Given the description of an element on the screen output the (x, y) to click on. 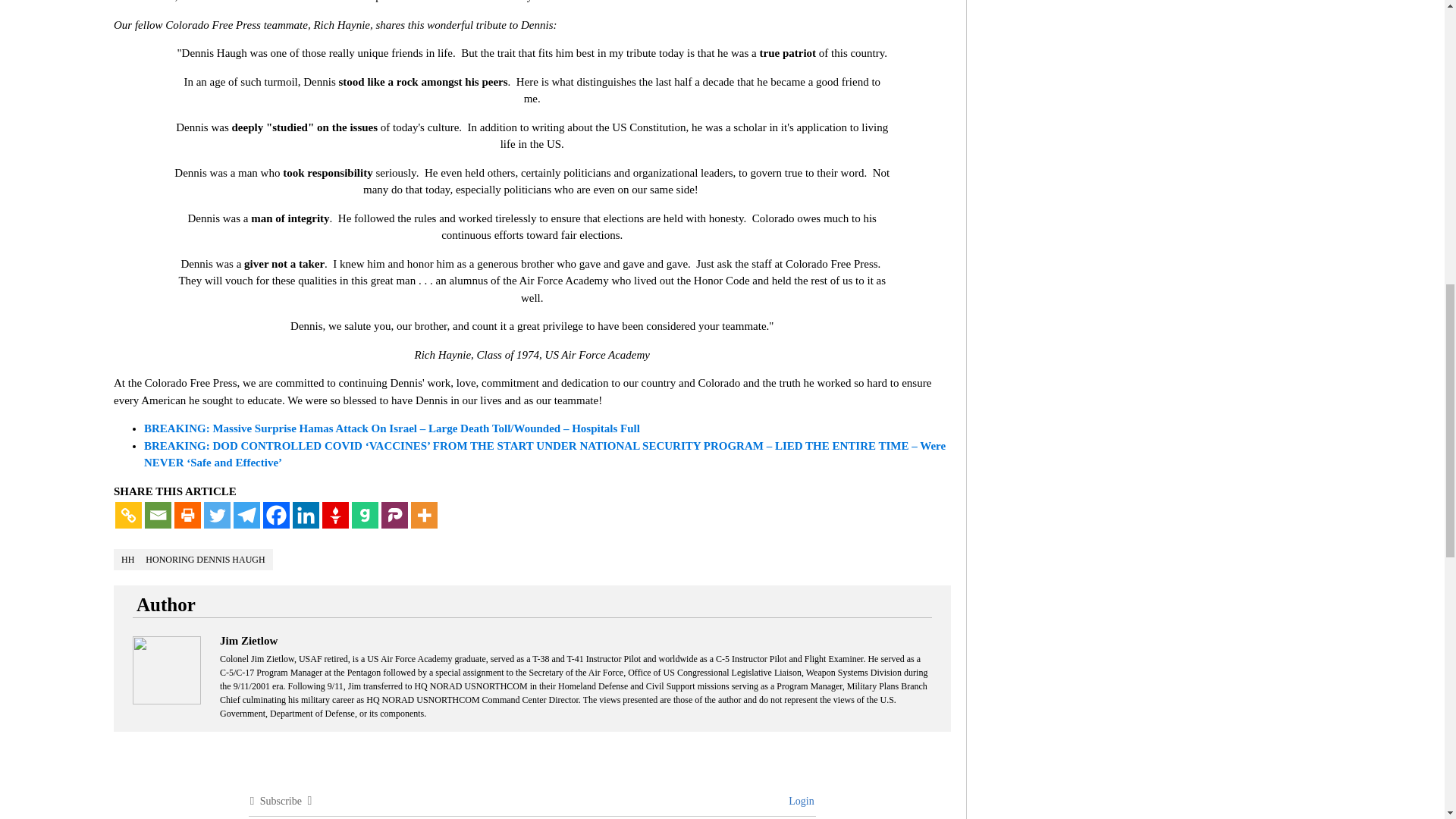
Email (157, 515)
Copy Link (128, 515)
Linkedin (305, 515)
Telegram (246, 515)
Gab (365, 515)
Gettr (335, 515)
Facebook (276, 515)
Twitter (216, 515)
Parler (394, 515)
Print (187, 515)
